Given the description of an element on the screen output the (x, y) to click on. 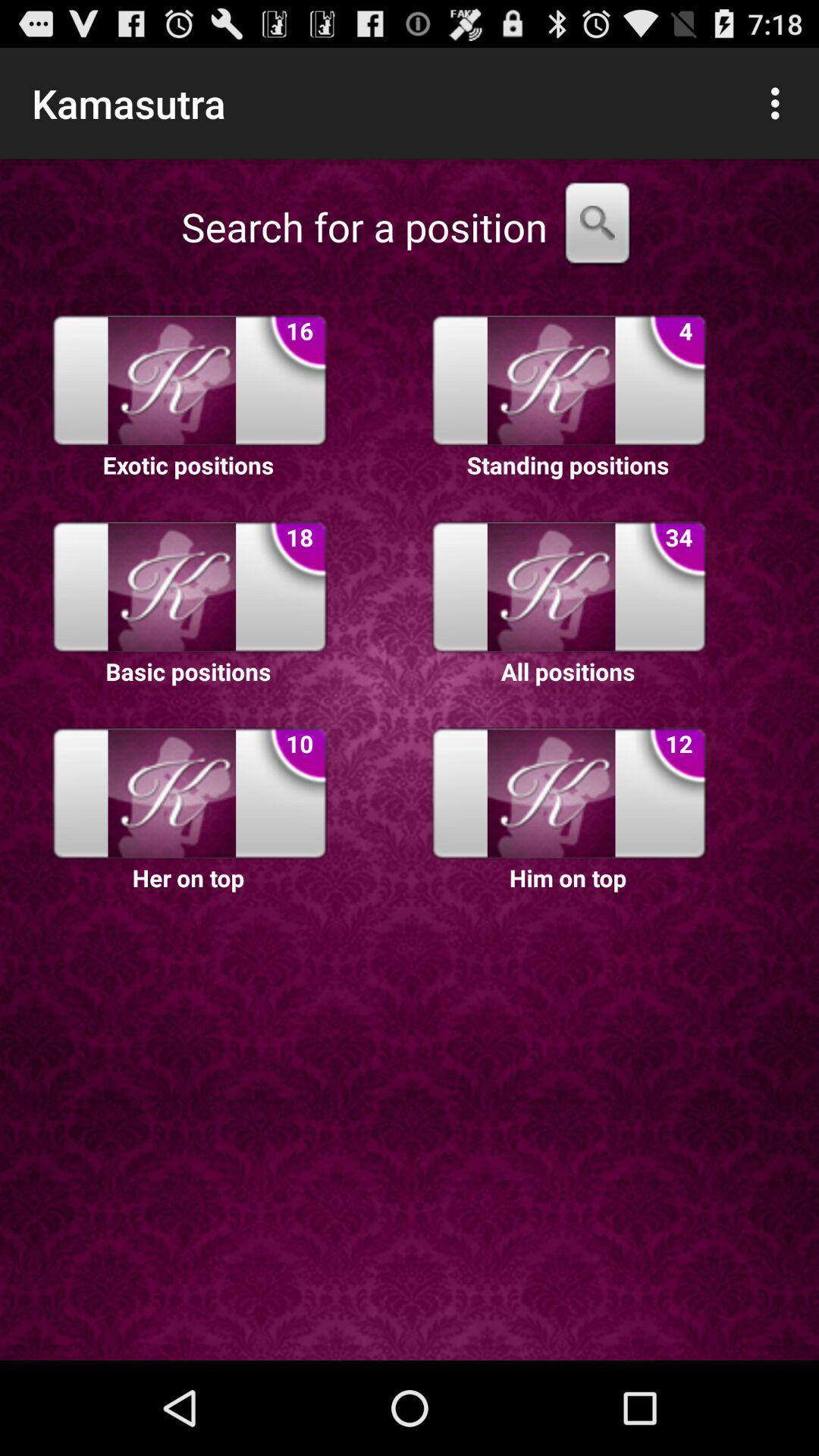
choose the item to the right of kamasutra icon (779, 103)
